Given the description of an element on the screen output the (x, y) to click on. 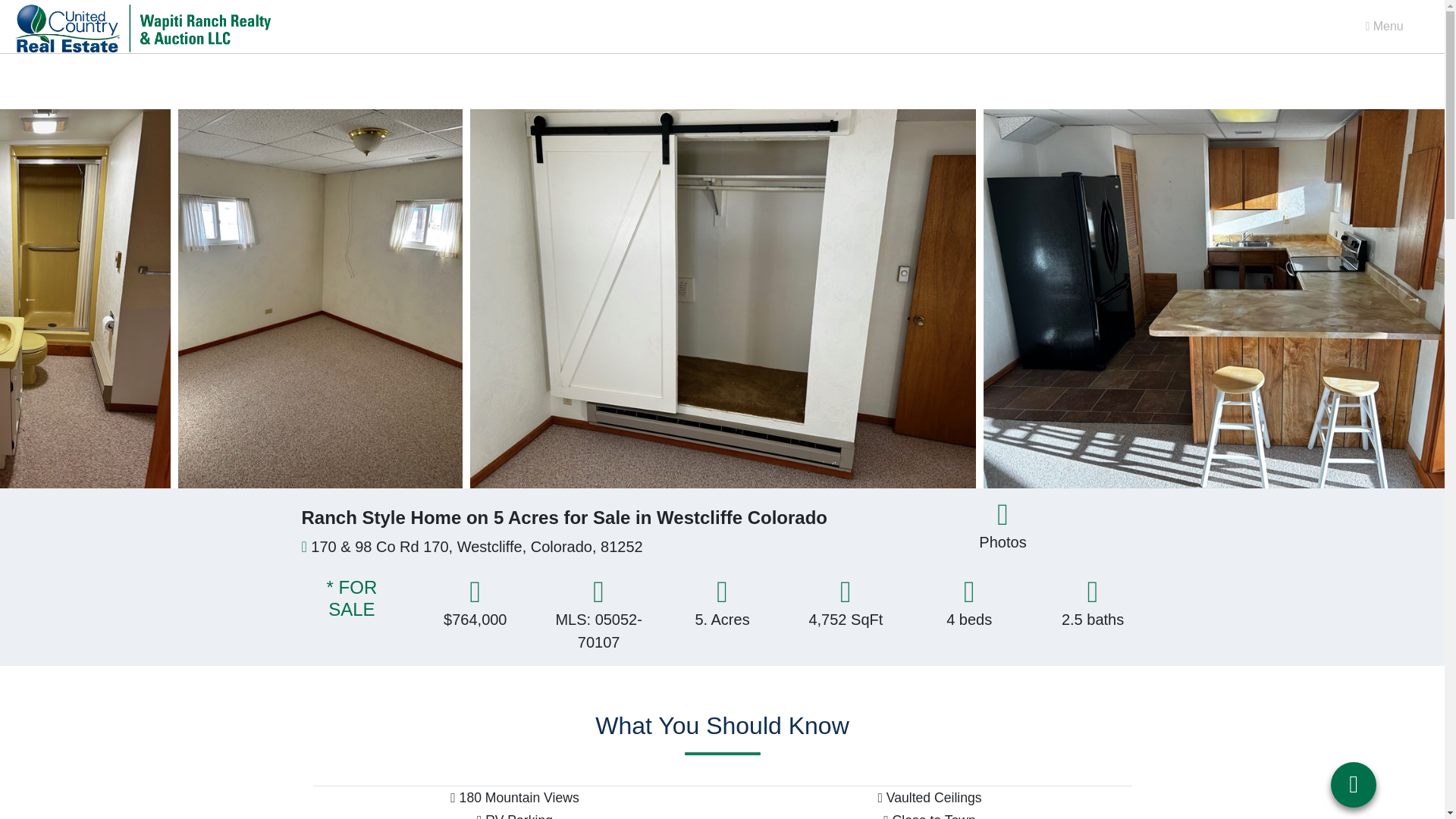
Previous (30, 298)
Next (1414, 298)
